Given the description of an element on the screen output the (x, y) to click on. 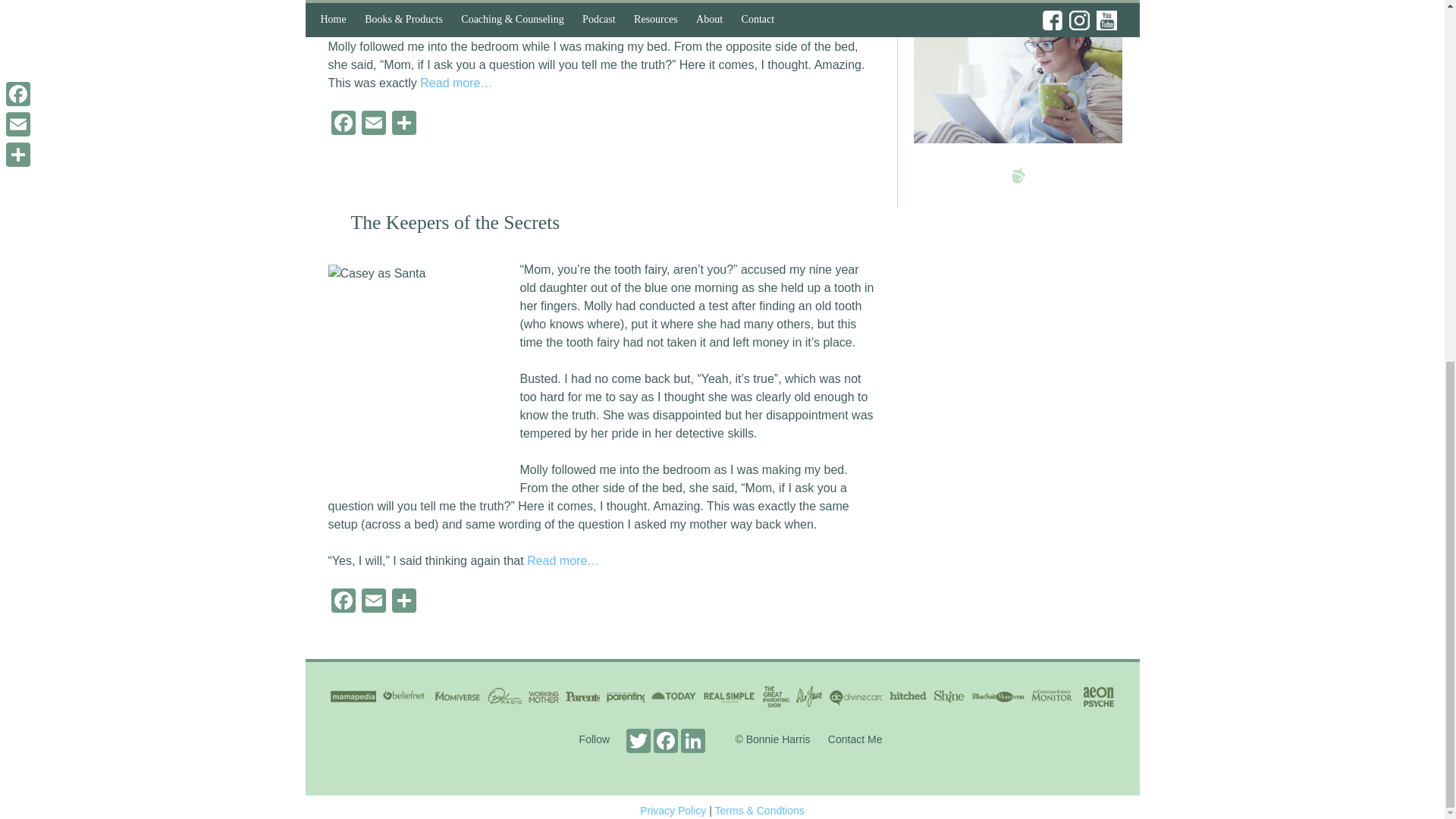
Share (403, 124)
Email (373, 602)
The Keepers of the Secrets (454, 222)
Email (373, 602)
Facebook (342, 124)
Facebook (342, 602)
Facebook (342, 124)
Share (403, 602)
Email (373, 124)
Email (373, 124)
